Given the description of an element on the screen output the (x, y) to click on. 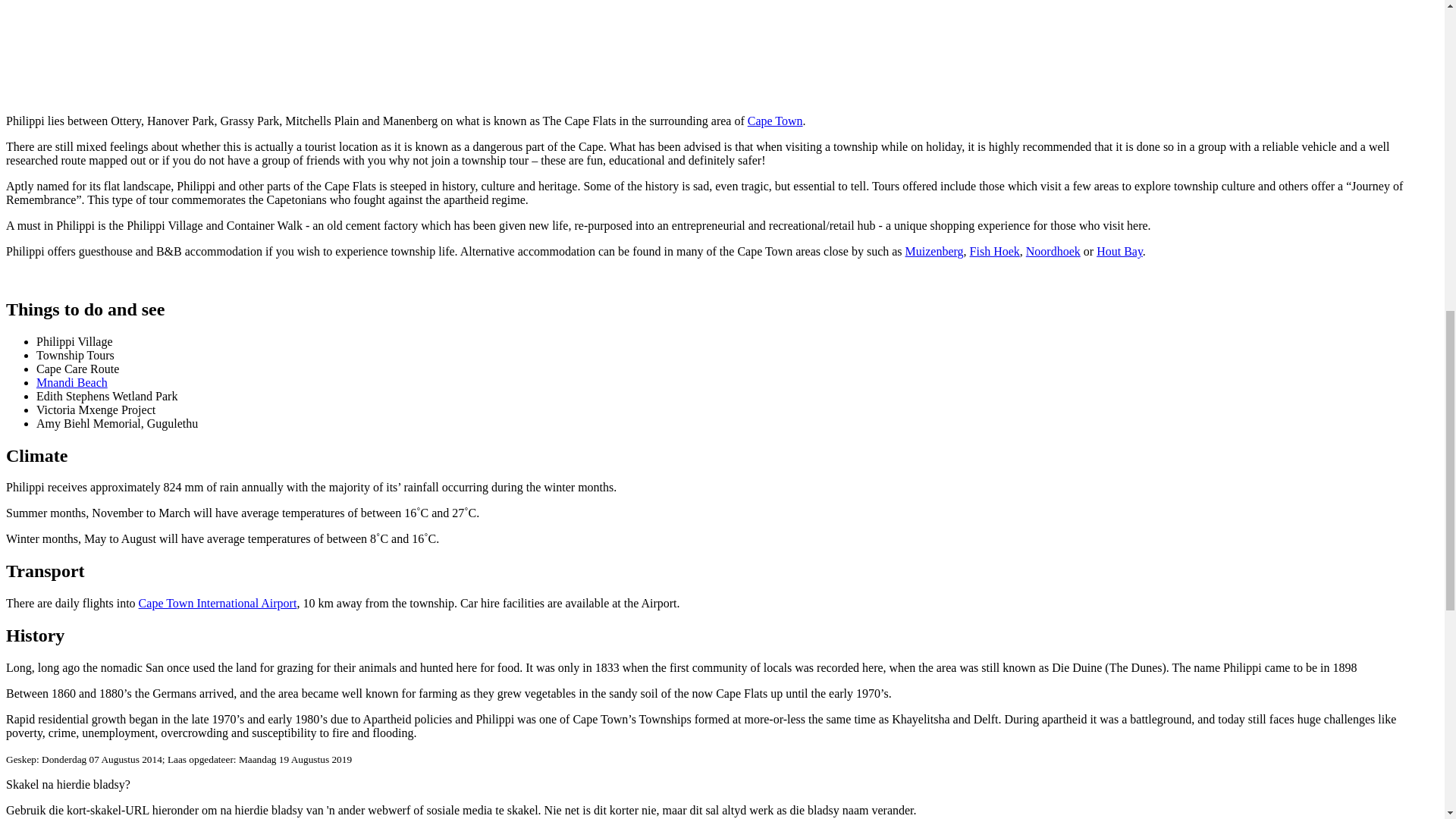
Cape Town (775, 120)
Skakel na hierdie bladsy? (68, 784)
Fish Hoek (994, 250)
Noordhoek (1053, 250)
Muizenberg (934, 250)
Hout Bay (1119, 250)
Mnandi Beach (71, 382)
Cape Town International Airport (217, 603)
